Given the description of an element on the screen output the (x, y) to click on. 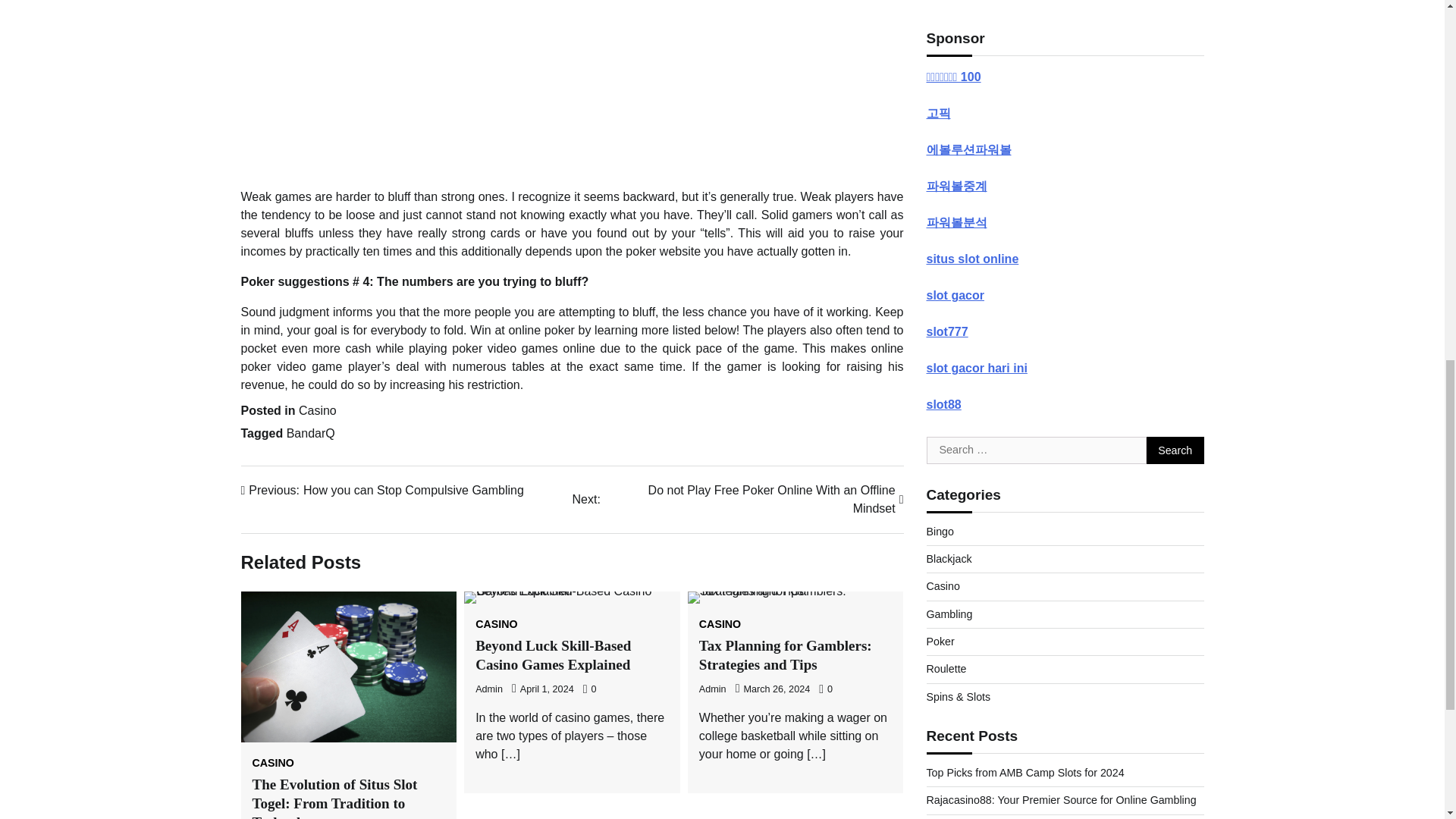
Tax Planning for Gamblers: Strategies and Tips (785, 655)
CASINO (496, 624)
Poker Tips on Bluffing Revealed! (572, 84)
Beyond Luck Skill-Based Casino Games Explained (553, 655)
Casino (317, 410)
CASINO (719, 624)
Admin (489, 688)
CASINO (272, 762)
BandarQ (737, 499)
Admin (382, 490)
